Given the description of an element on the screen output the (x, y) to click on. 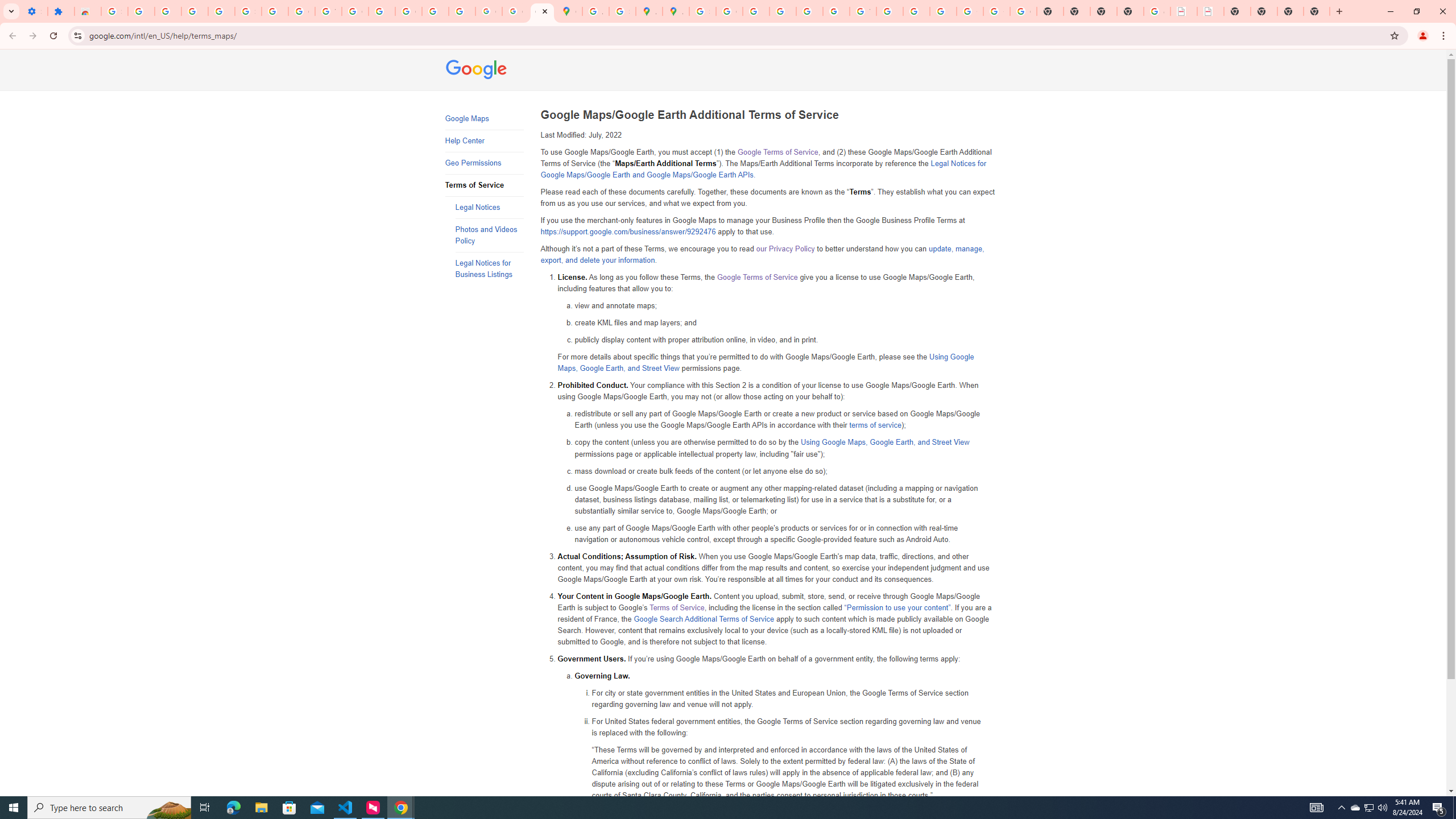
Google Maps (569, 11)
Privacy Help Center - Policies Help (756, 11)
Delete photos & videos - Computer - Google Photos Help (167, 11)
YouTube (328, 11)
Safety in Our Products - Google Safety Center (622, 11)
Legal Notices (489, 207)
Google Images (1023, 11)
BAE Systems Brasil | BAE Systems (1210, 11)
